Given the description of an element on the screen output the (x, y) to click on. 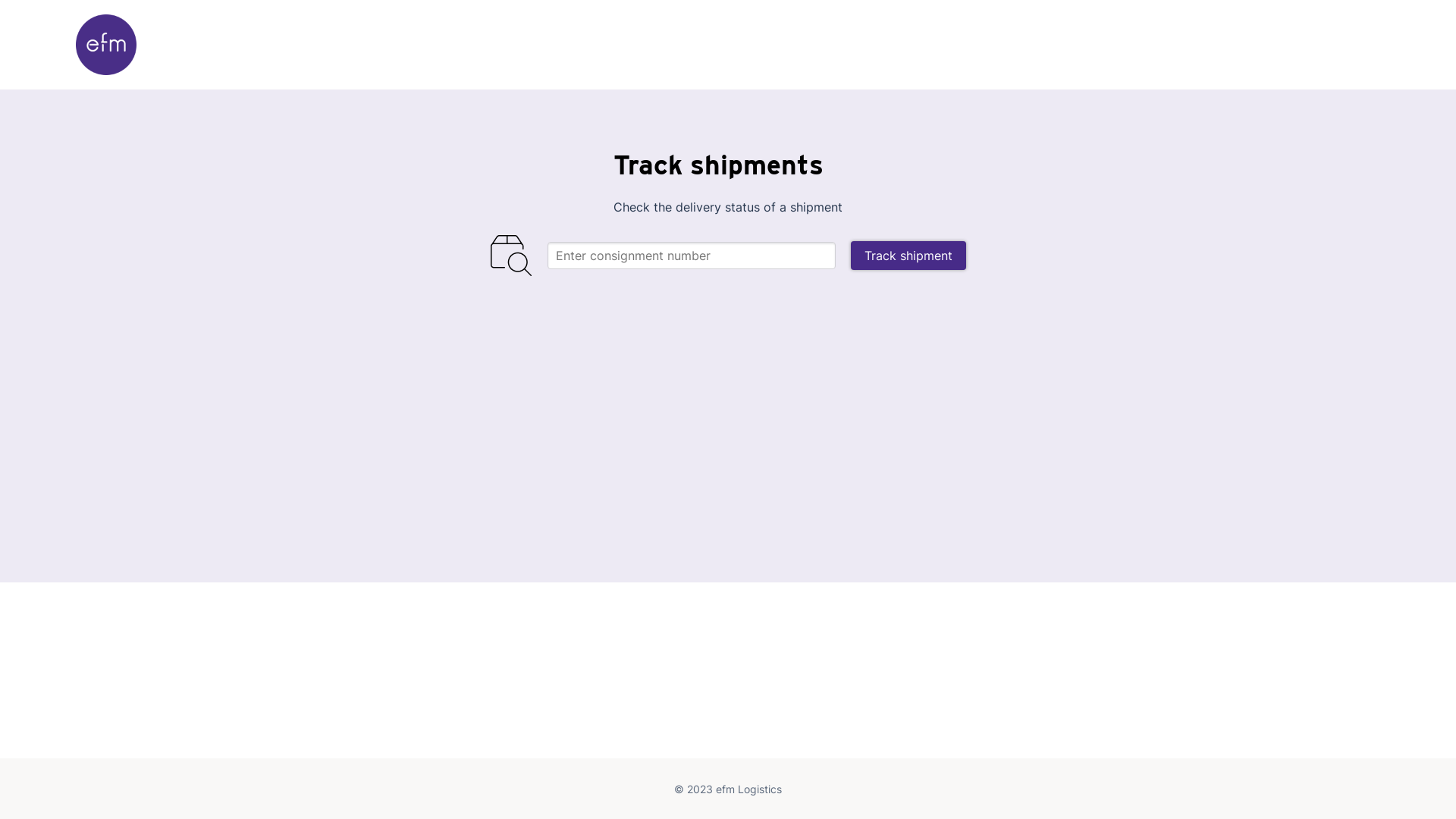
Track shipment Element type: text (908, 255)
